Given the description of an element on the screen output the (x, y) to click on. 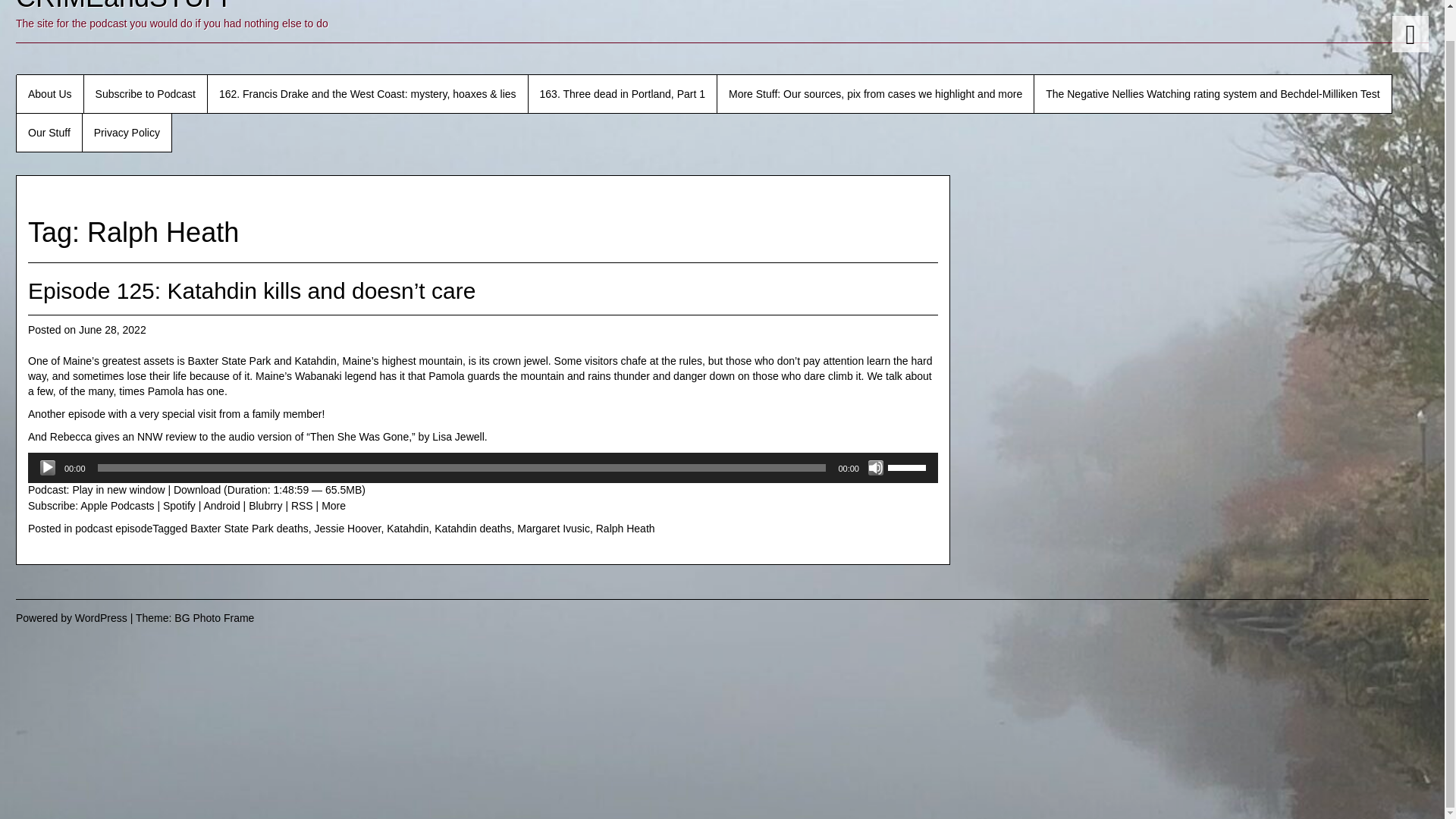
Margaret Ivusic (552, 528)
Android (221, 505)
Privacy Policy (126, 132)
Subscribe to Podcast (146, 93)
Subscribe on Blubrry (265, 505)
Download (197, 490)
Jessie Hoover (347, 528)
Play in new window (117, 490)
June 28, 2022 (112, 329)
